Given the description of an element on the screen output the (x, y) to click on. 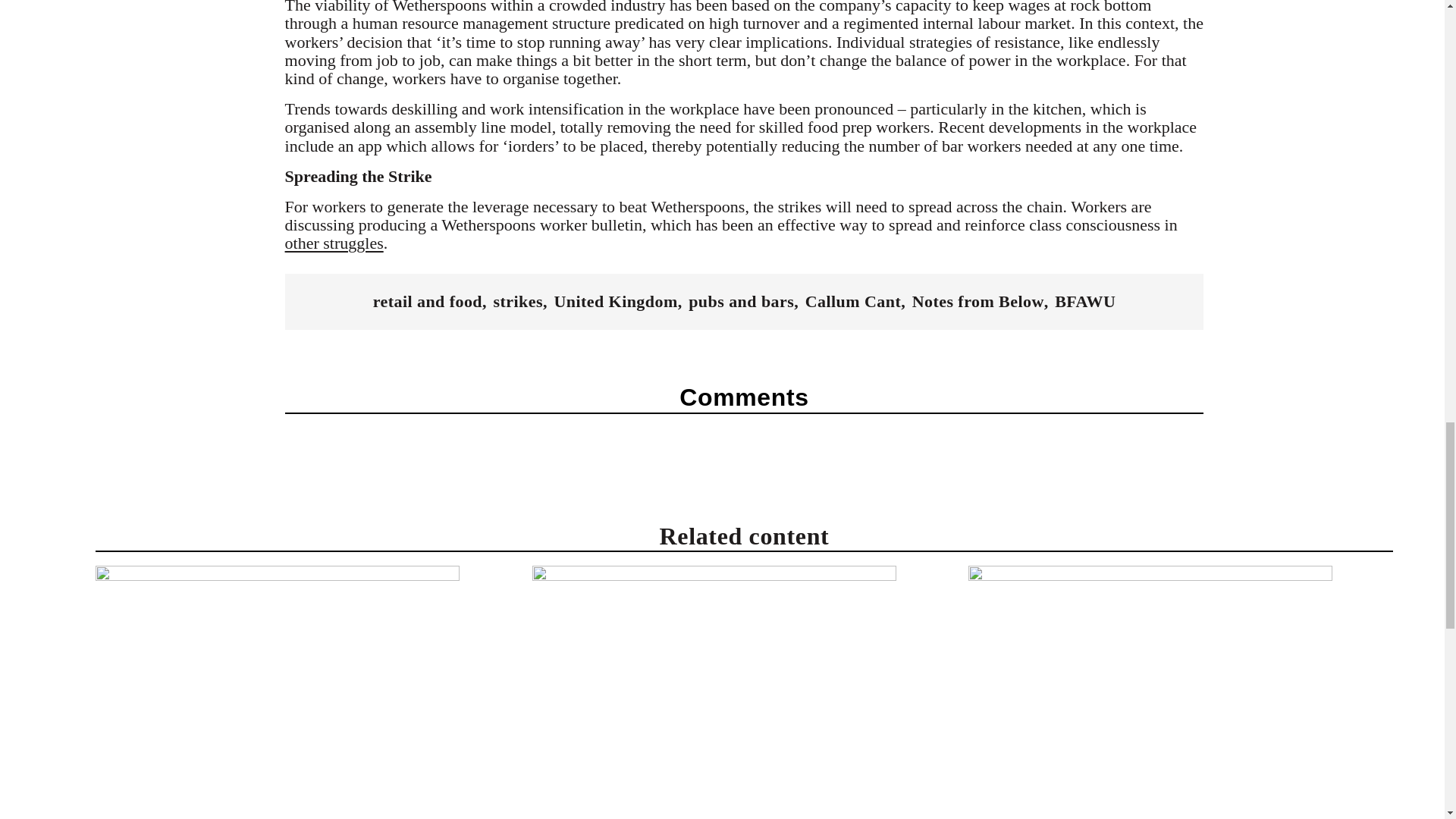
strikes (518, 301)
Callum Cant (853, 301)
pubs and bars (740, 301)
other struggles (334, 242)
BFAWU (1084, 301)
Notes from Below (977, 301)
United Kingdom (615, 301)
retail and food (426, 301)
